Given the description of an element on the screen output the (x, y) to click on. 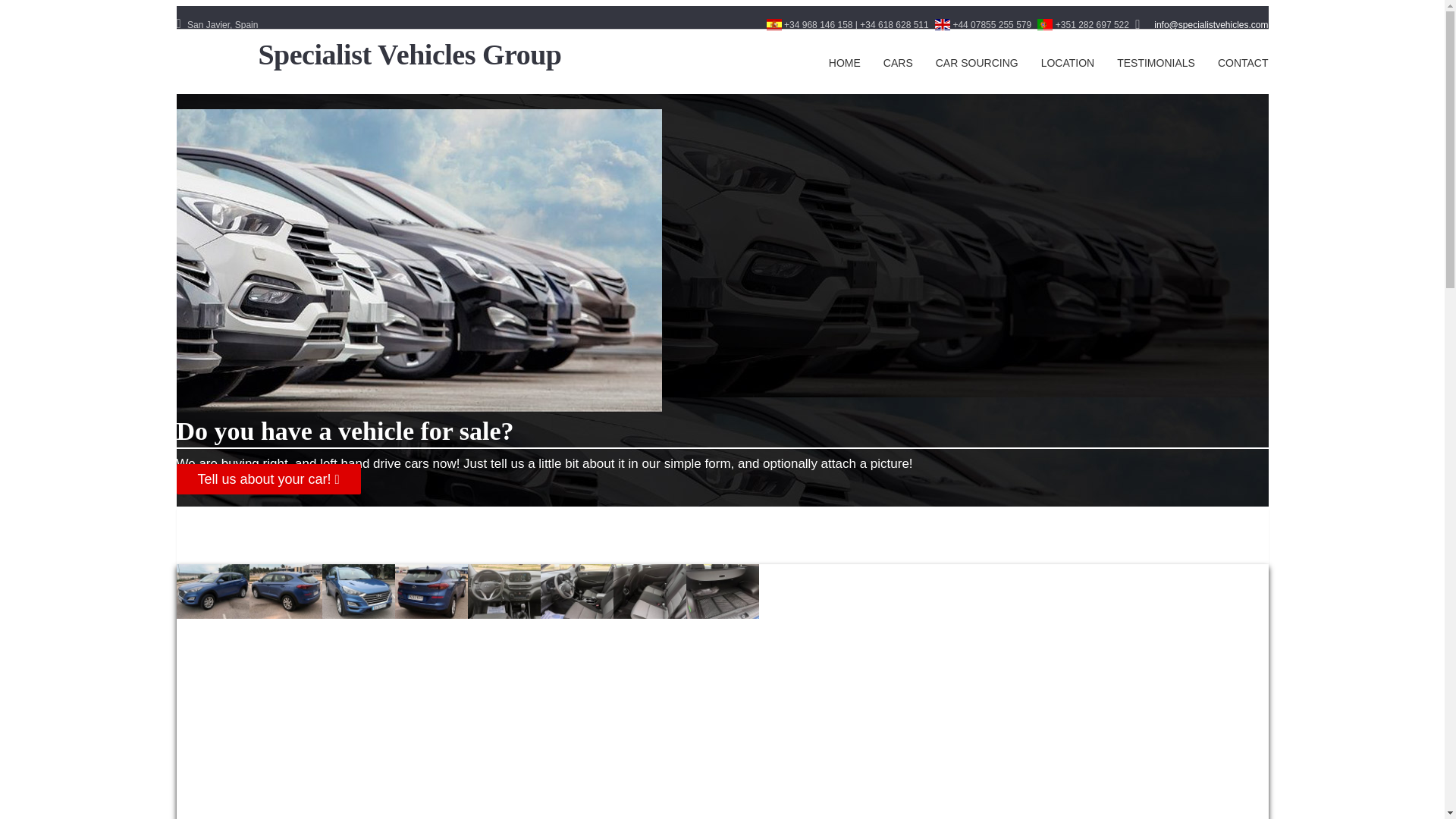
TESTIMONIALS (1155, 62)
CAR SOURCING (976, 62)
Specialist Vehicles Group (408, 49)
Tell us about your car! (267, 479)
